Given the description of an element on the screen output the (x, y) to click on. 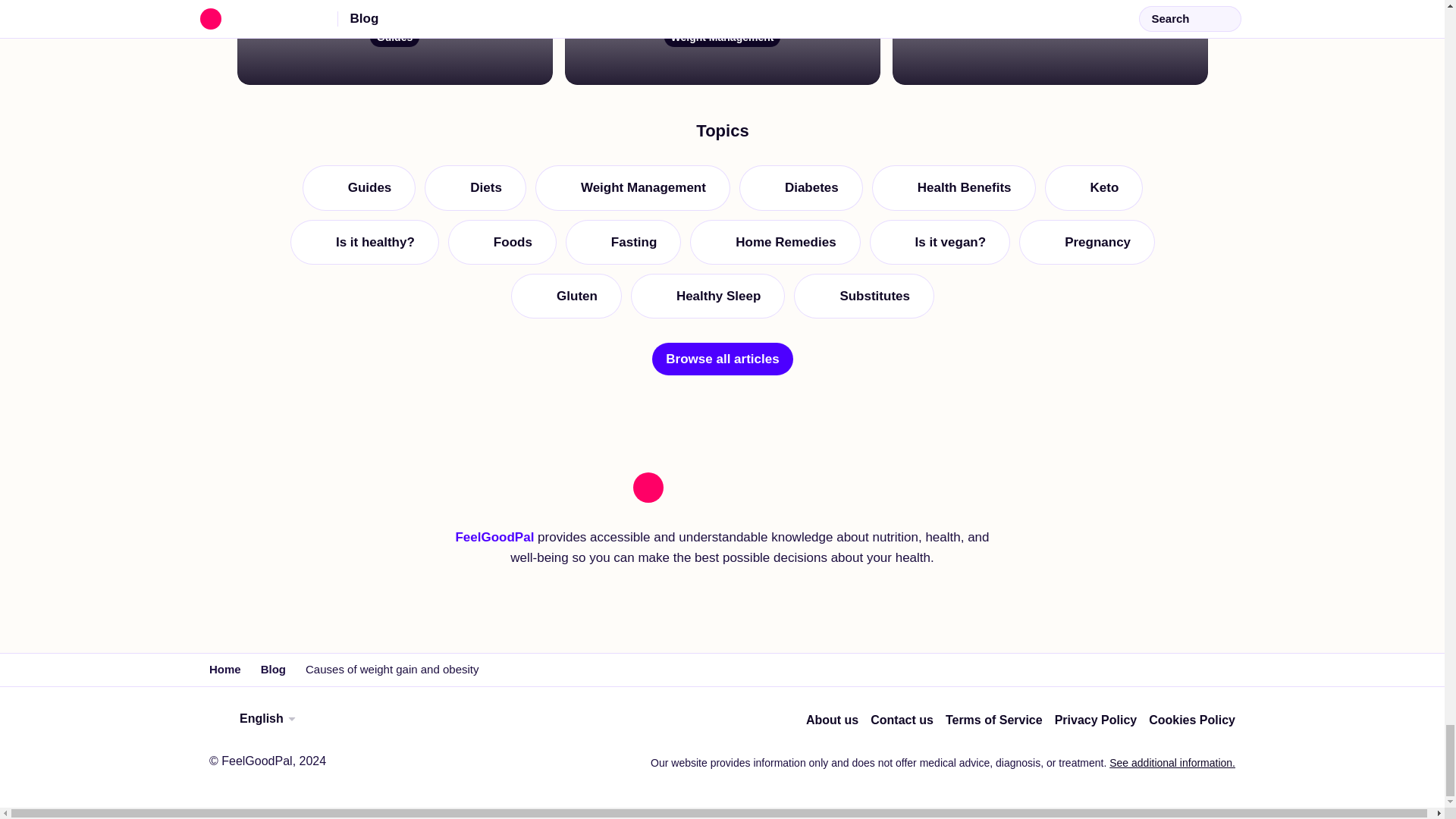
Keto (1092, 505)
Fasting (621, 559)
Weight Management (631, 505)
Diabetes (799, 505)
Home Remedies (775, 559)
Diets (393, 42)
Is it healthy? (475, 505)
Foods (363, 559)
13 reasons why sugary soda is bad for your health (501, 559)
Guides (1049, 42)
Health Benefits (357, 505)
